Given the description of an element on the screen output the (x, y) to click on. 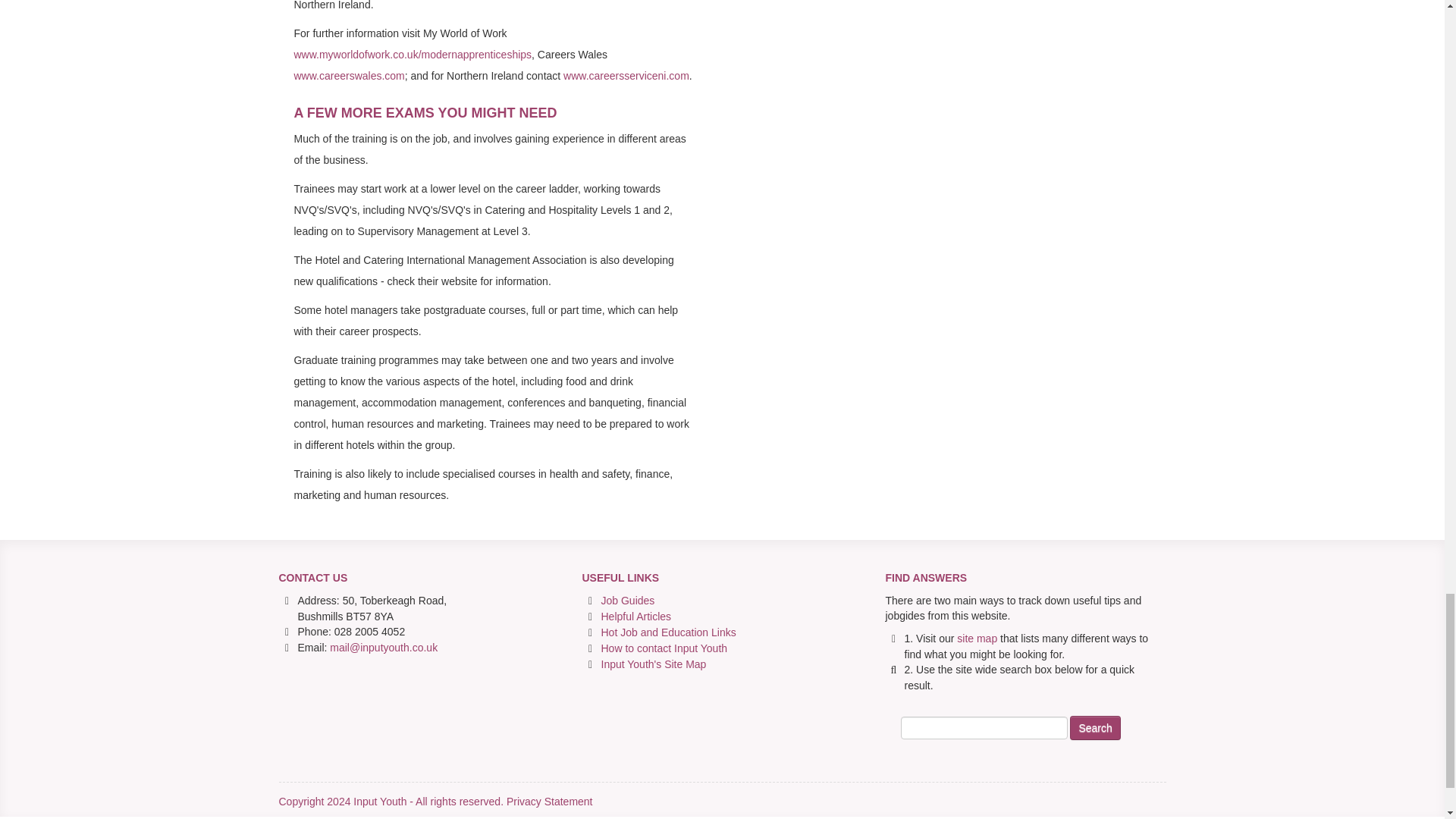
Hot Job and Education Links (667, 632)
www.careersserviceni.com (625, 75)
Privacy Statement (549, 801)
Search (1094, 727)
Search (1094, 727)
Input Youth's Site Map (652, 664)
Helpful Articles (635, 616)
How to contact Input Youth (662, 648)
site map (976, 638)
www.careerswales.com (349, 75)
